Given the description of an element on the screen output the (x, y) to click on. 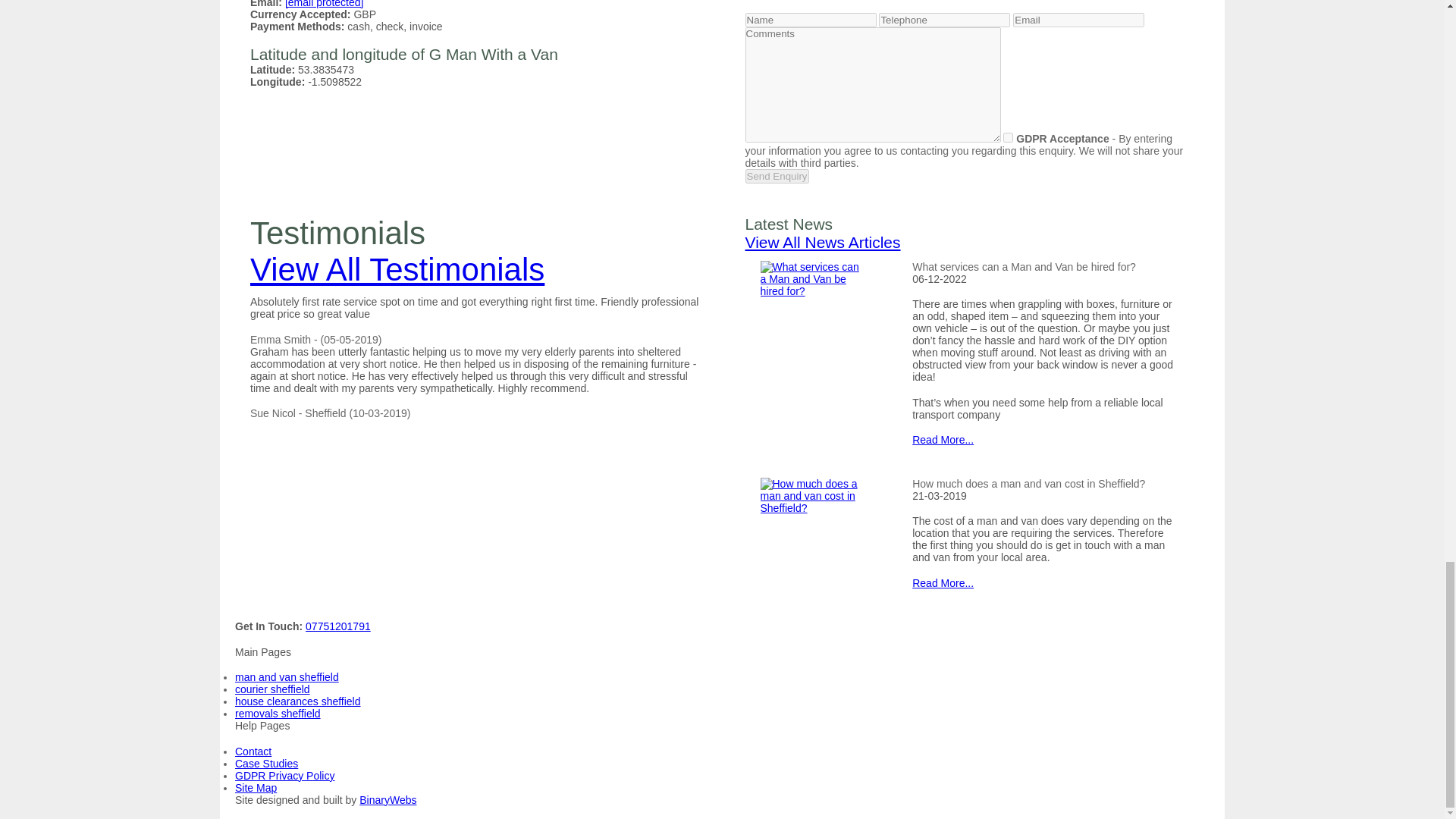
Send Enquiry (776, 175)
yes (1008, 137)
